Given the description of an element on the screen output the (x, y) to click on. 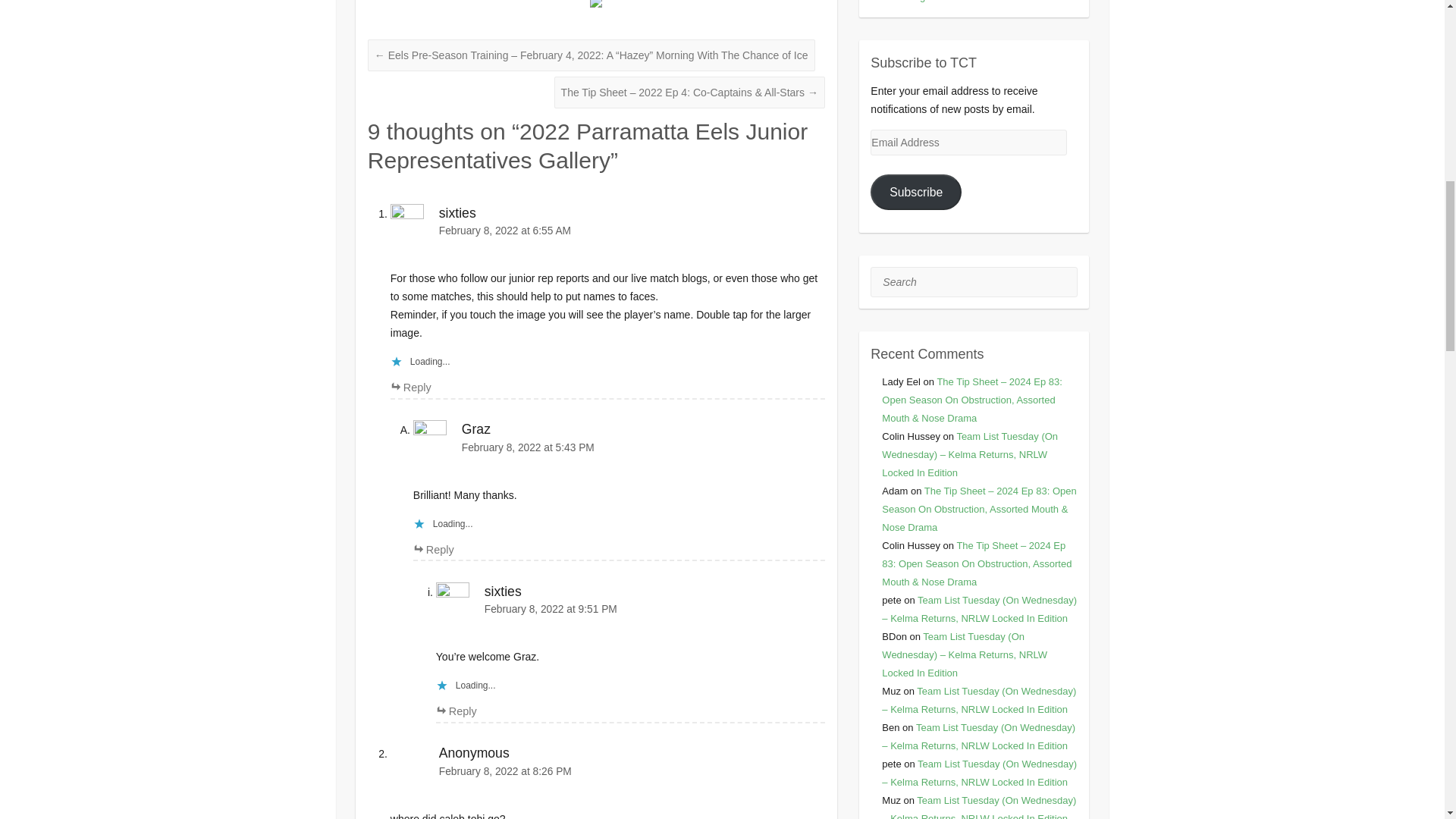
Reply (433, 549)
Reply (456, 711)
February 8, 2022 at 8:26 PM (607, 771)
February 8, 2022 at 5:43 PM (619, 447)
Reply (410, 387)
February 8, 2022 at 9:51 PM (630, 609)
February 8, 2022 at 6:55 AM (607, 230)
